Given the description of an element on the screen output the (x, y) to click on. 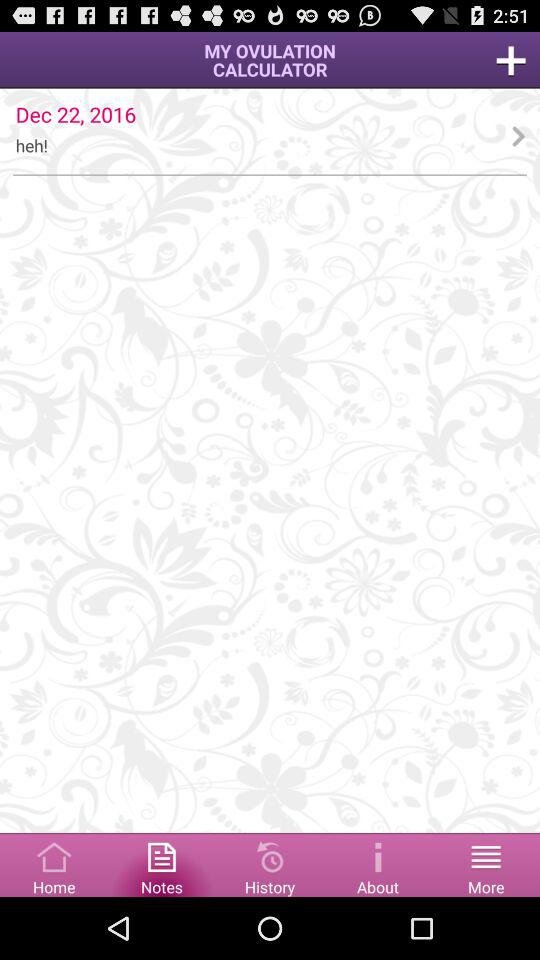
notes the option (162, 864)
